Given the description of an element on the screen output the (x, y) to click on. 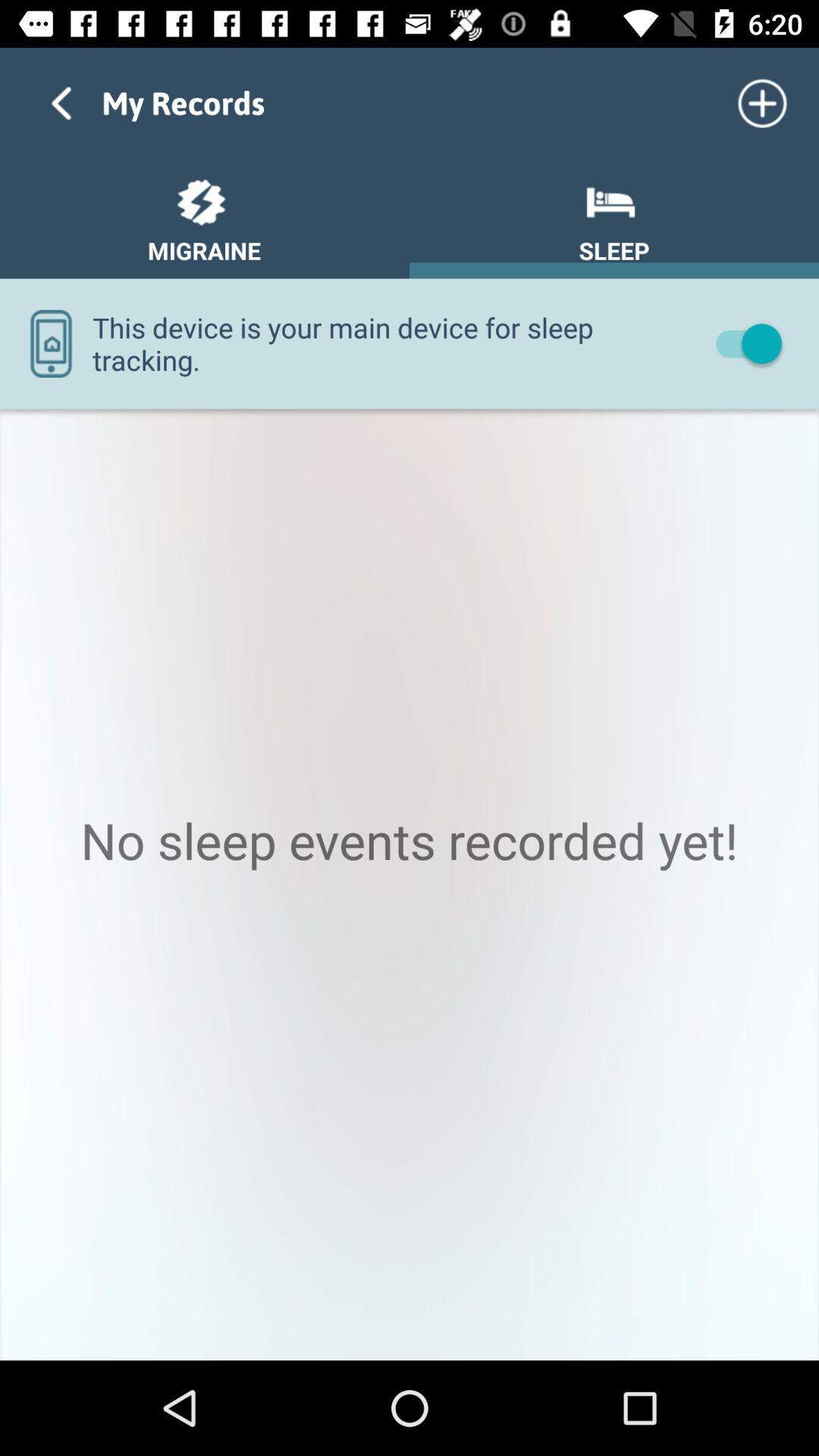
turn off item (741, 343)
